Given the description of an element on the screen output the (x, y) to click on. 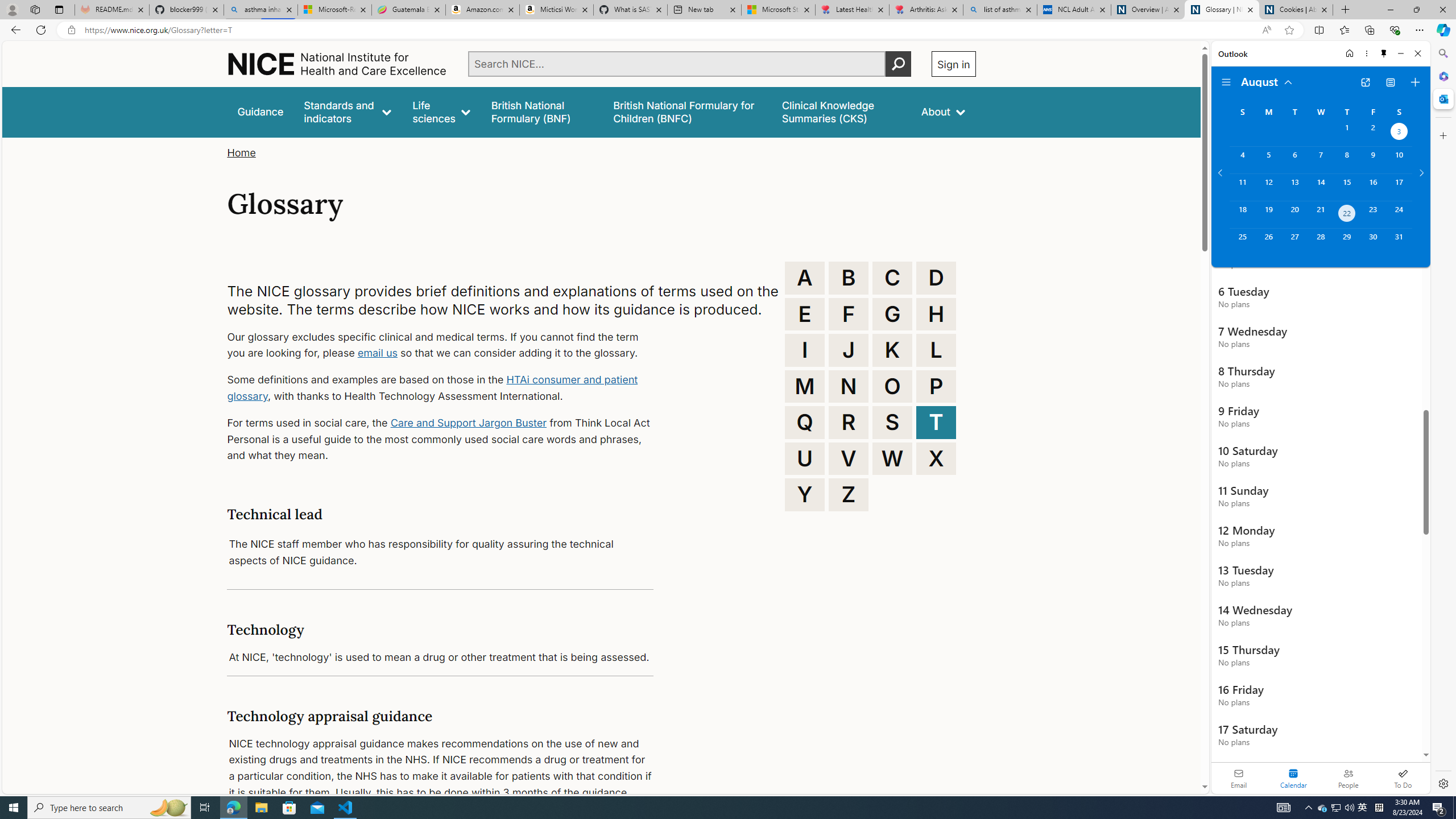
B (848, 277)
Monday, August 5, 2024.  (1268, 159)
Life sciences (440, 111)
T (935, 422)
Sunday, August 25, 2024.  (1242, 241)
F (848, 313)
Y (804, 494)
K (892, 350)
H (935, 313)
